Given the description of an element on the screen output the (x, y) to click on. 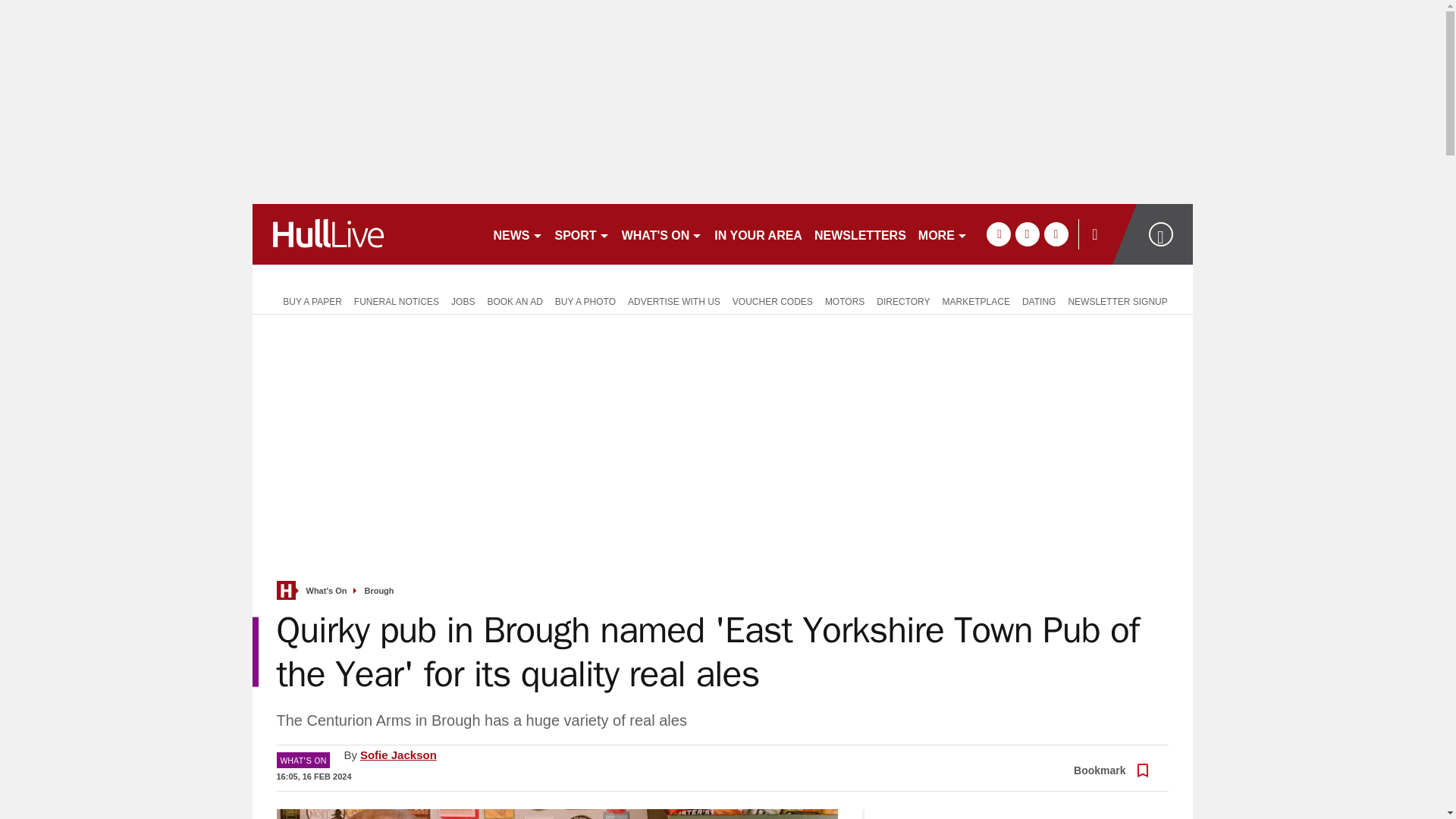
IN YOUR AREA (757, 233)
MORE (943, 233)
NEWS (517, 233)
hulldailymail (365, 233)
NEWSLETTERS (860, 233)
twitter (1026, 233)
instagram (1055, 233)
facebook (997, 233)
SPORT (581, 233)
WHAT'S ON (662, 233)
